Given the description of an element on the screen output the (x, y) to click on. 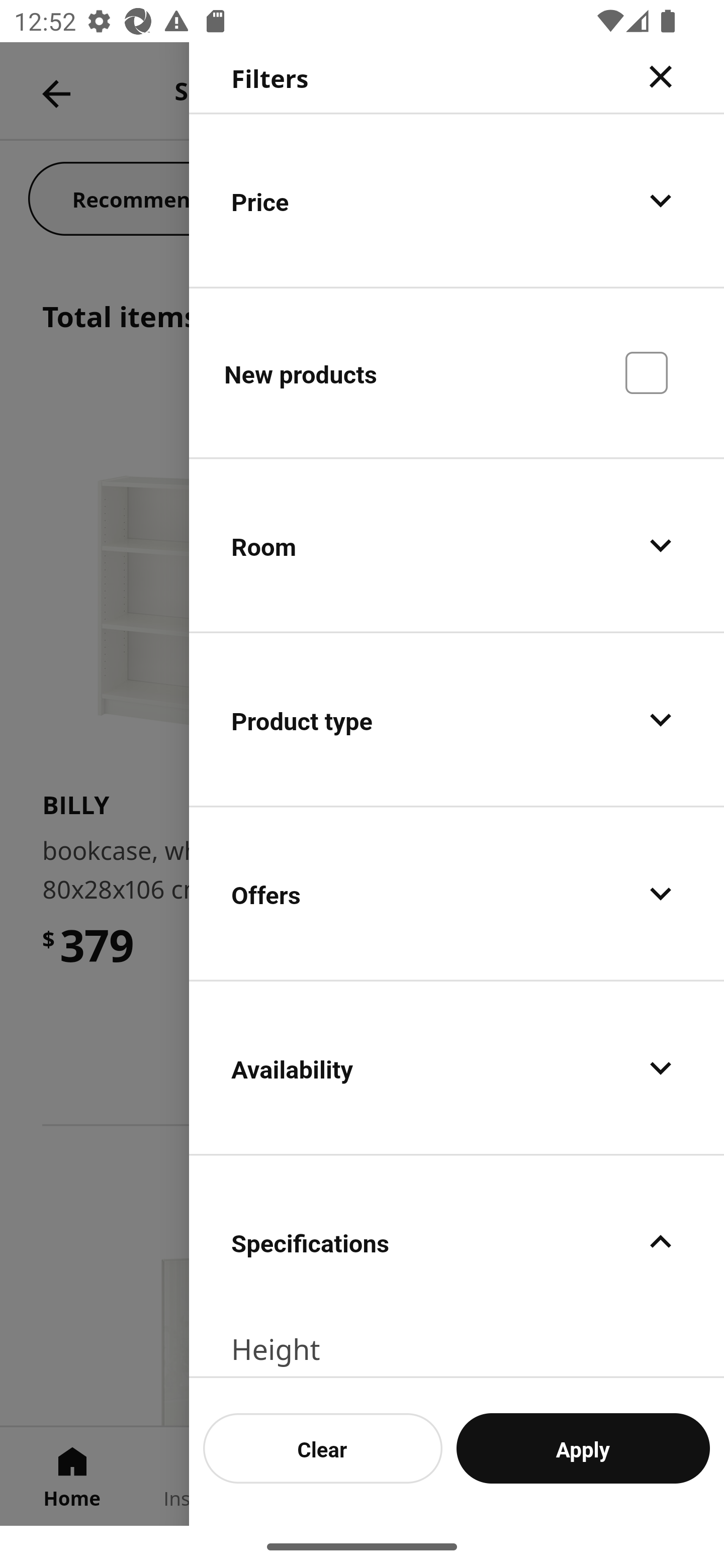
Price (456, 200)
New products (456, 371)
Room (456, 545)
Product type (456, 719)
Offers (456, 893)
Availability (456, 1067)
Specifications (456, 1241)
Clear (322, 1447)
Apply (583, 1447)
